Given the description of an element on the screen output the (x, y) to click on. 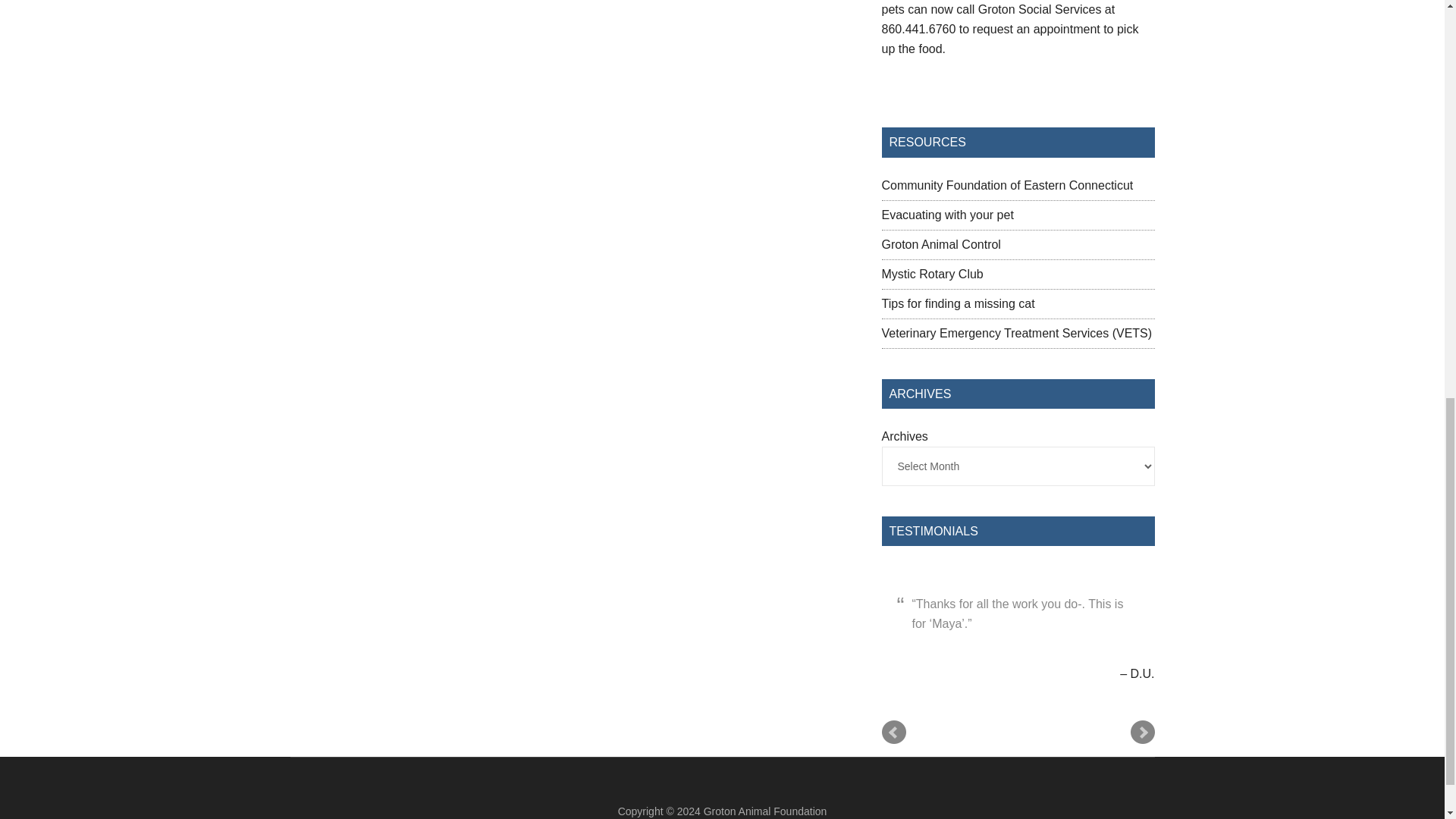
Groton Animal Control (940, 244)
Next (1141, 732)
Mystic Rotary Club (931, 273)
Evacuating with your pet (946, 214)
Community Foundation of Eastern Connecticut (1006, 185)
Tips for finding a missing cat (956, 303)
A checklist for evacuating your home with your pets (946, 214)
Prev (892, 732)
Psychology and the Missing Cat (956, 303)
